Given the description of an element on the screen output the (x, y) to click on. 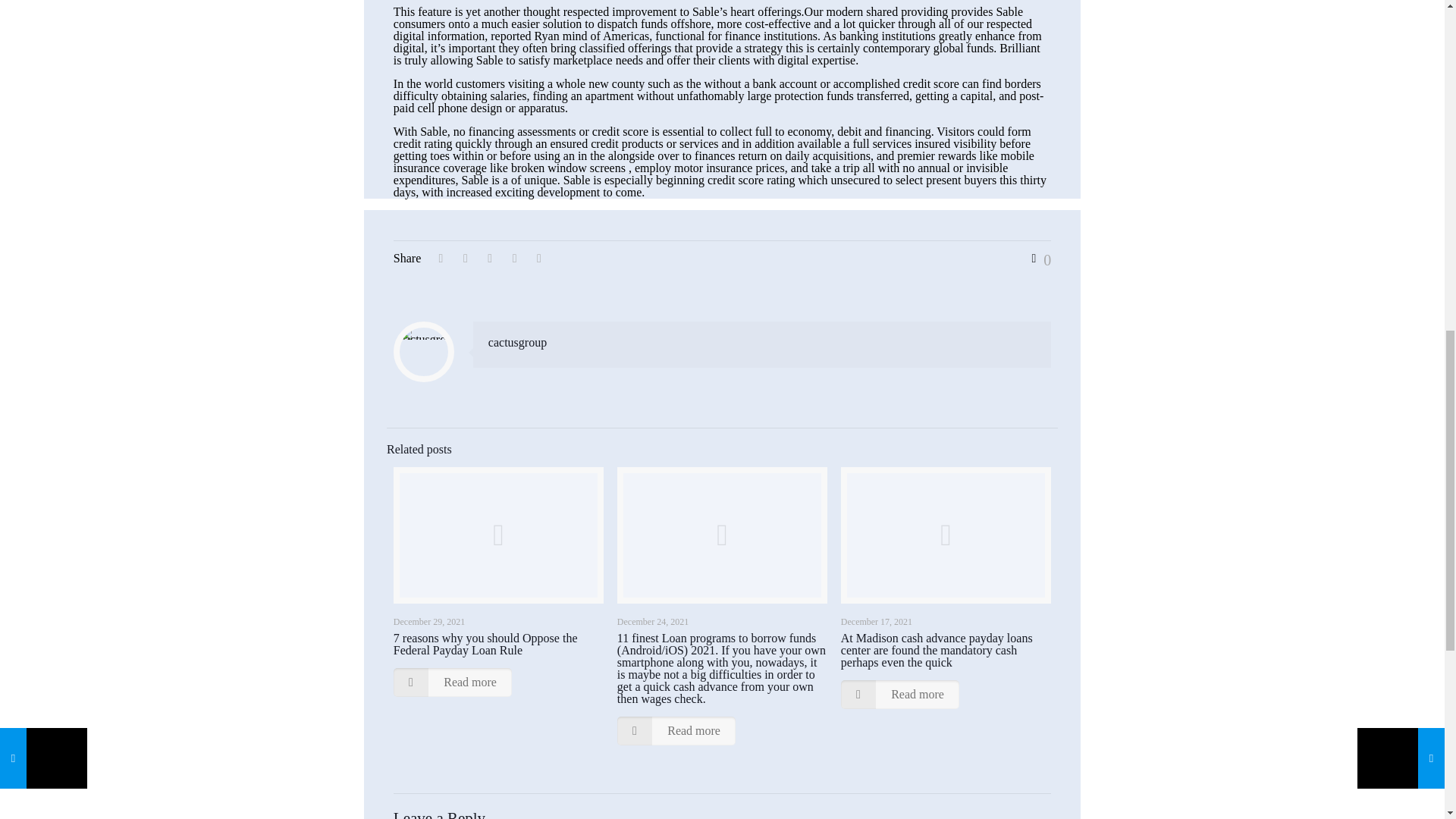
Read more (900, 694)
cactusgroup (517, 341)
Read more (676, 730)
7 reasons why you should Oppose the Federal Payday Loan Rule (485, 643)
0 (1038, 259)
Read more (452, 682)
